Given the description of an element on the screen output the (x, y) to click on. 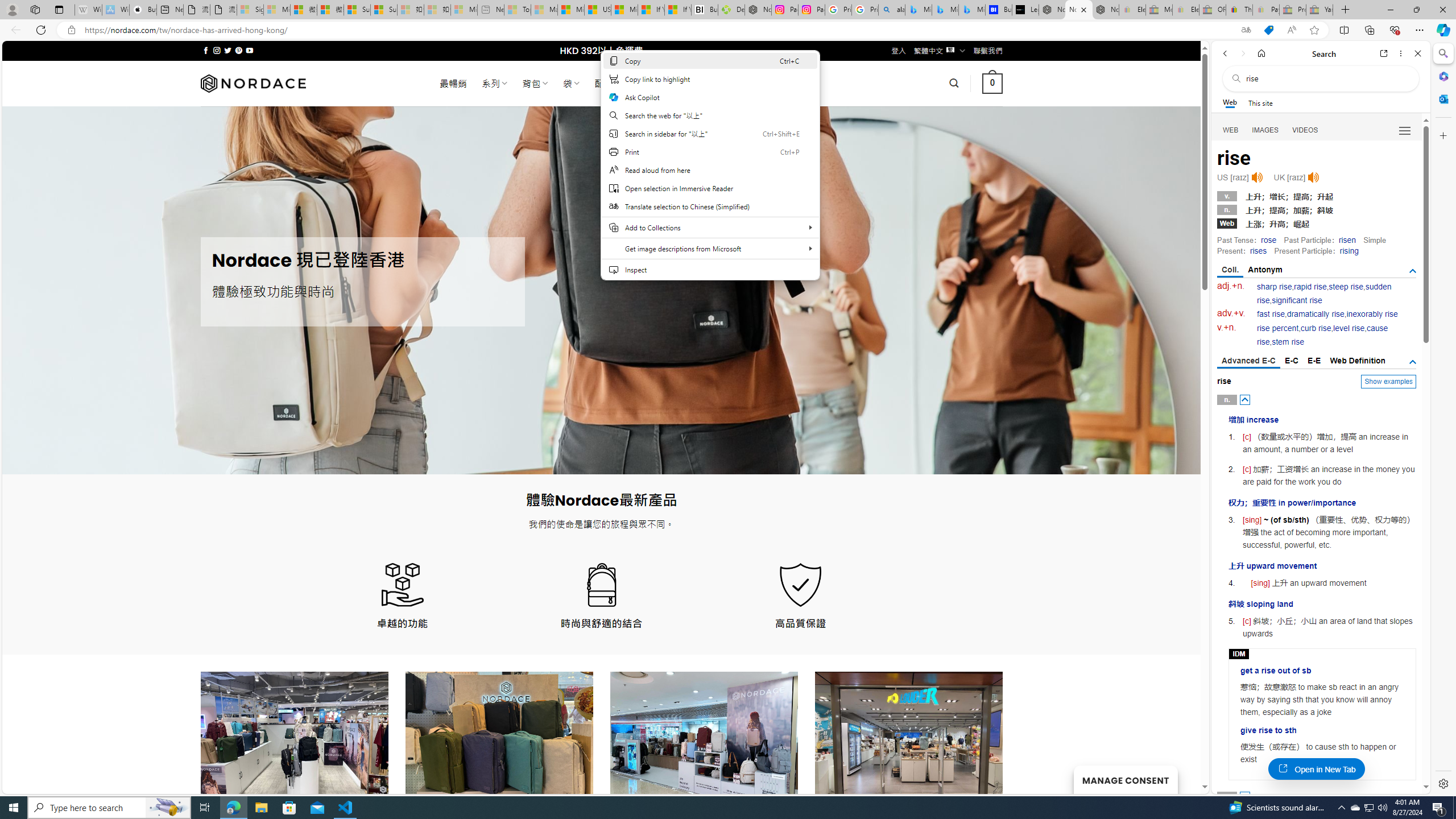
alabama high school quarterback dies - Search (891, 9)
Advanced E-C (1248, 361)
rises (1257, 250)
Antonym (1265, 269)
fast rise (1270, 313)
